Given the description of an element on the screen output the (x, y) to click on. 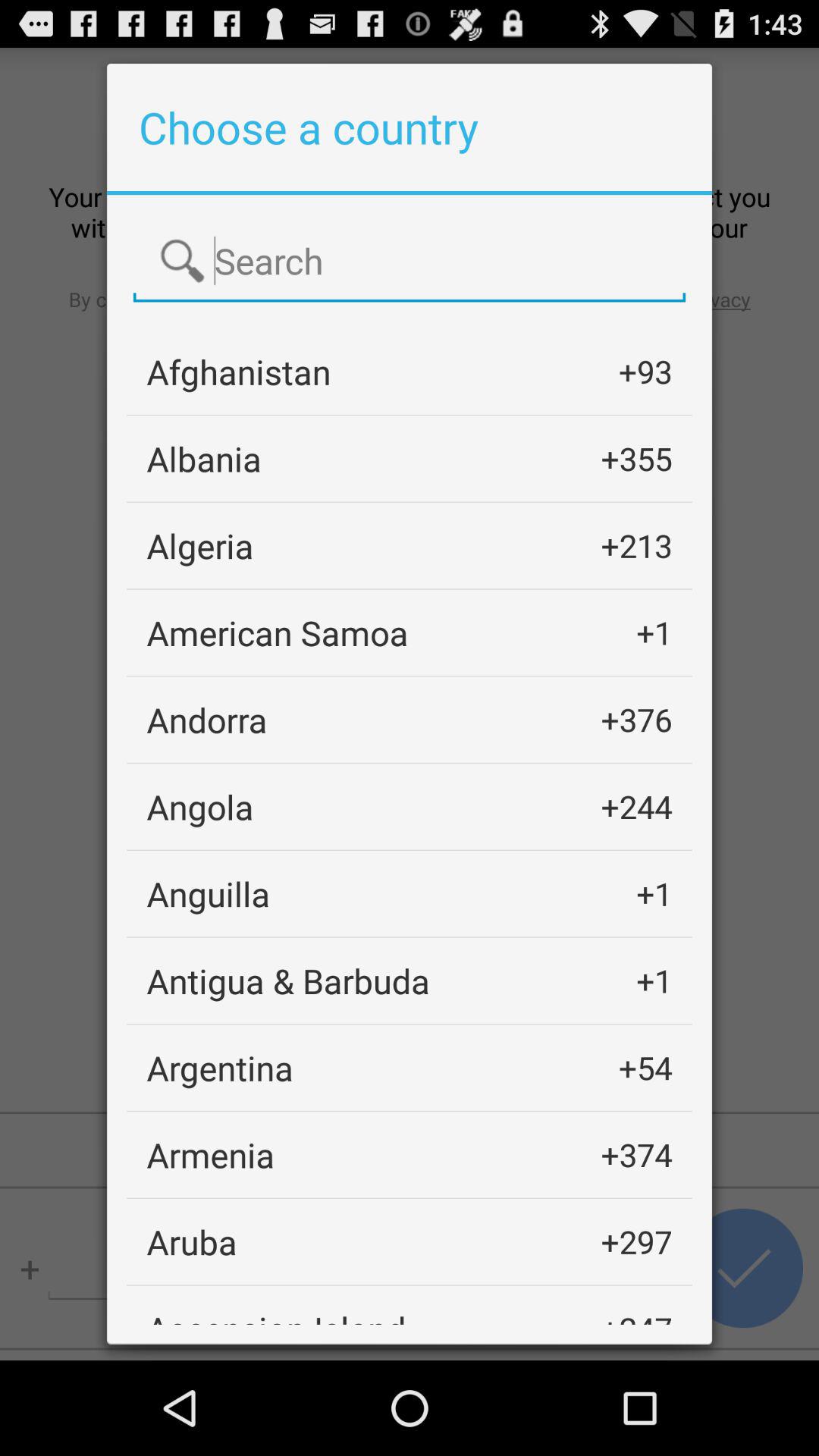
tap the icon above +247 app (636, 1241)
